Given the description of an element on the screen output the (x, y) to click on. 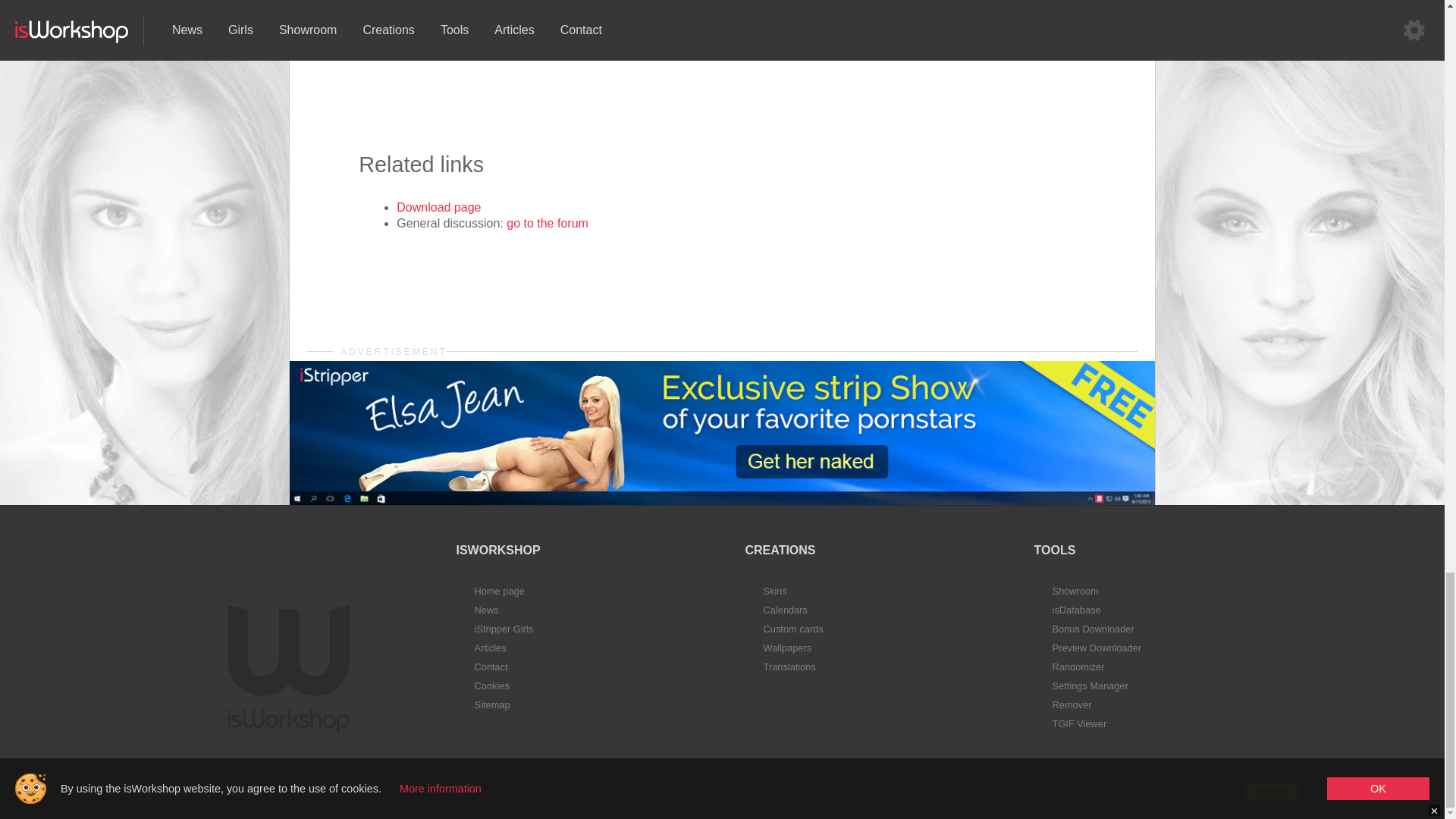
iStripper - Desire on Demand (316, 791)
Viewed 3746569 times (200, 791)
